Given the description of an element on the screen output the (x, y) to click on. 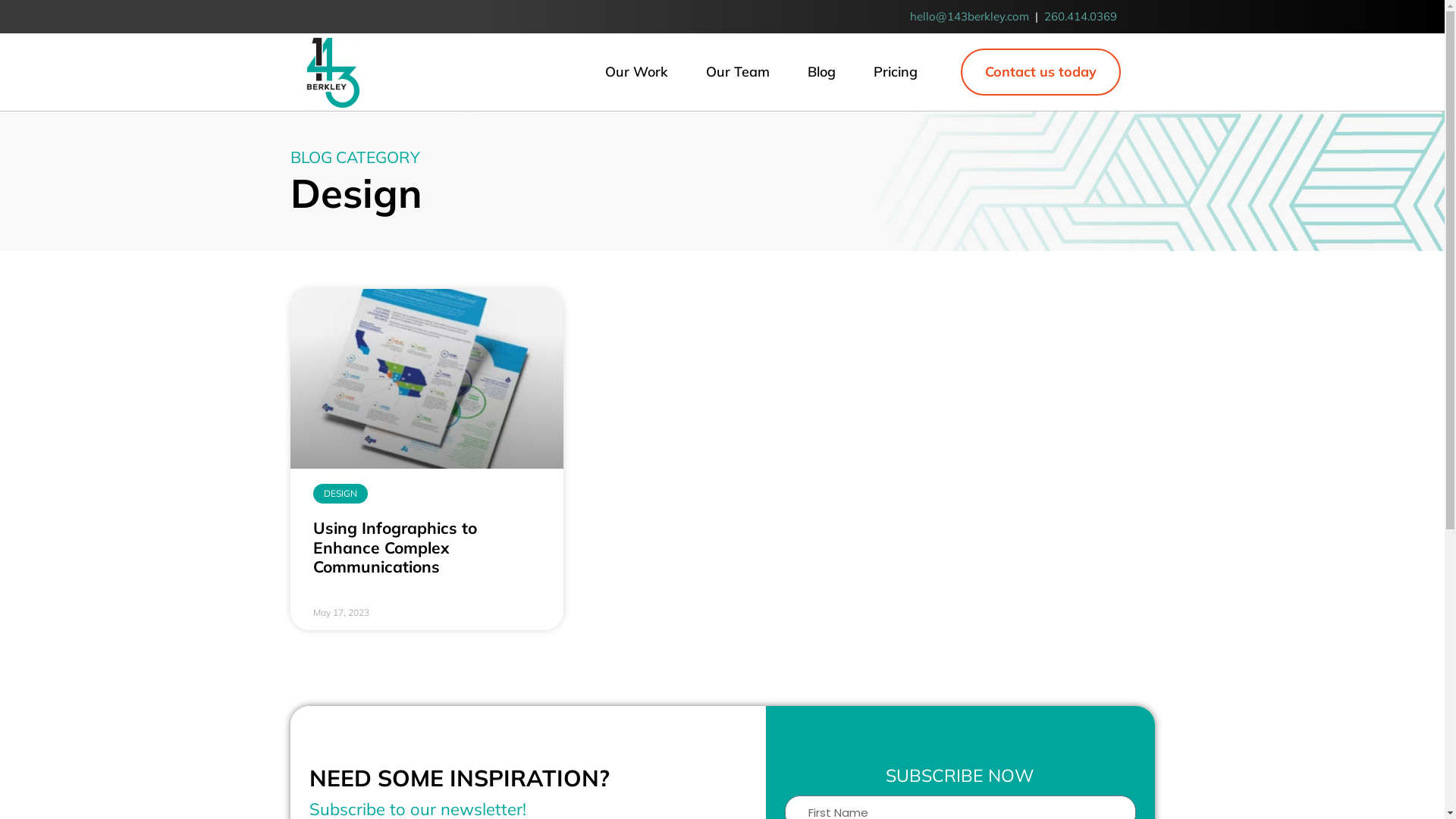
260.414.0369 Element type: text (1079, 16)
Contact us today Element type: text (1040, 72)
Blog Element type: text (821, 71)
Pricing Element type: text (895, 71)
Using Infographics to Enhance Complex Communications Element type: text (394, 546)
hello@143berkley.com Element type: text (969, 16)
Our Work Element type: text (636, 71)
Our Team Element type: text (737, 71)
